Given the description of an element on the screen output the (x, y) to click on. 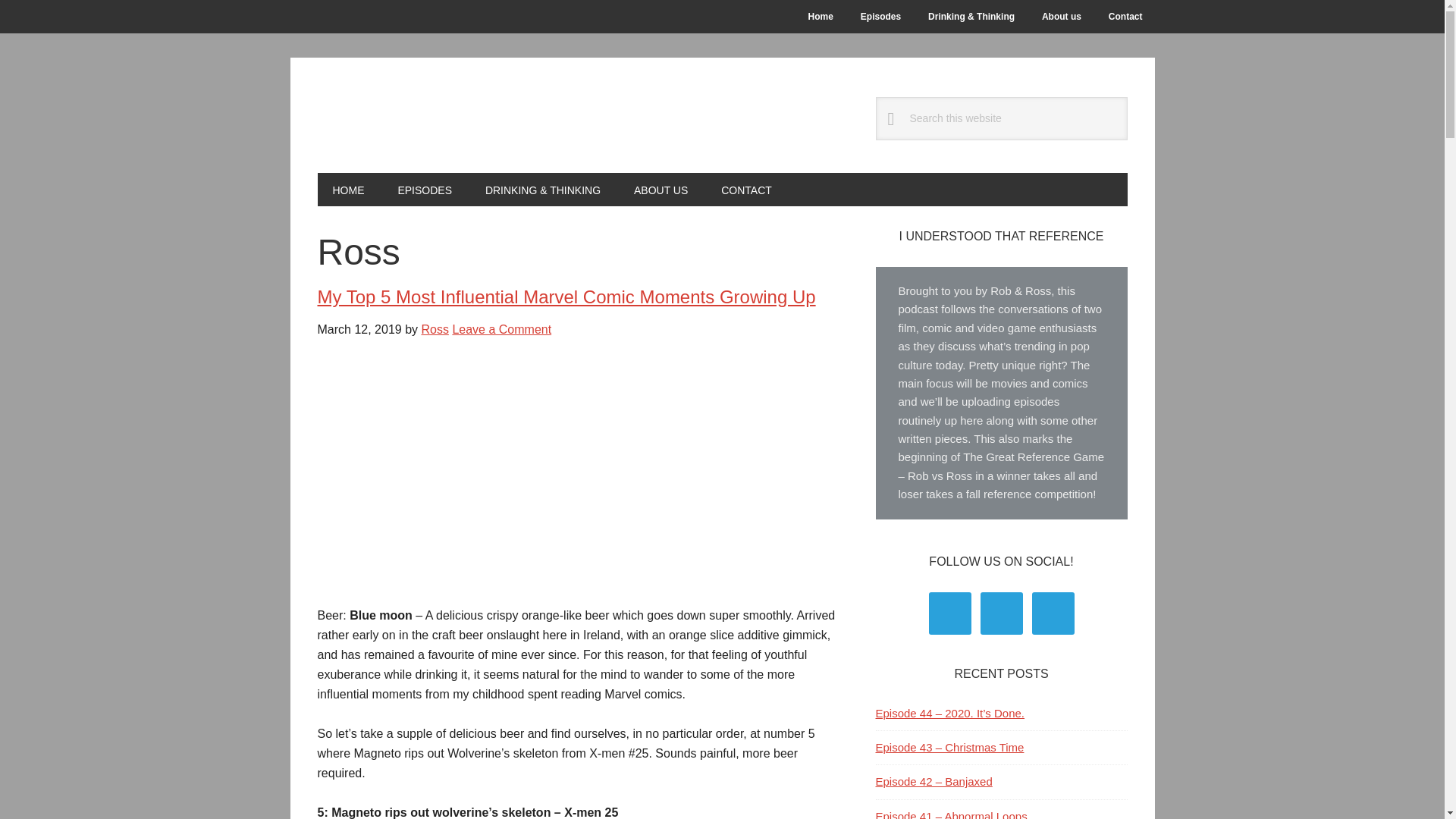
EPISODES (424, 189)
Ross (434, 328)
Leave a Comment (501, 328)
Home (820, 16)
I UNDERSTOOD THAT REFERENCE! (419, 115)
Episodes (880, 16)
My Top 5 Most Influential Marvel Comic Moments Growing Up (566, 296)
HOME (347, 189)
ABOUT US (660, 189)
CONTACT (746, 189)
About us (1061, 16)
Contact (1125, 16)
